Given the description of an element on the screen output the (x, y) to click on. 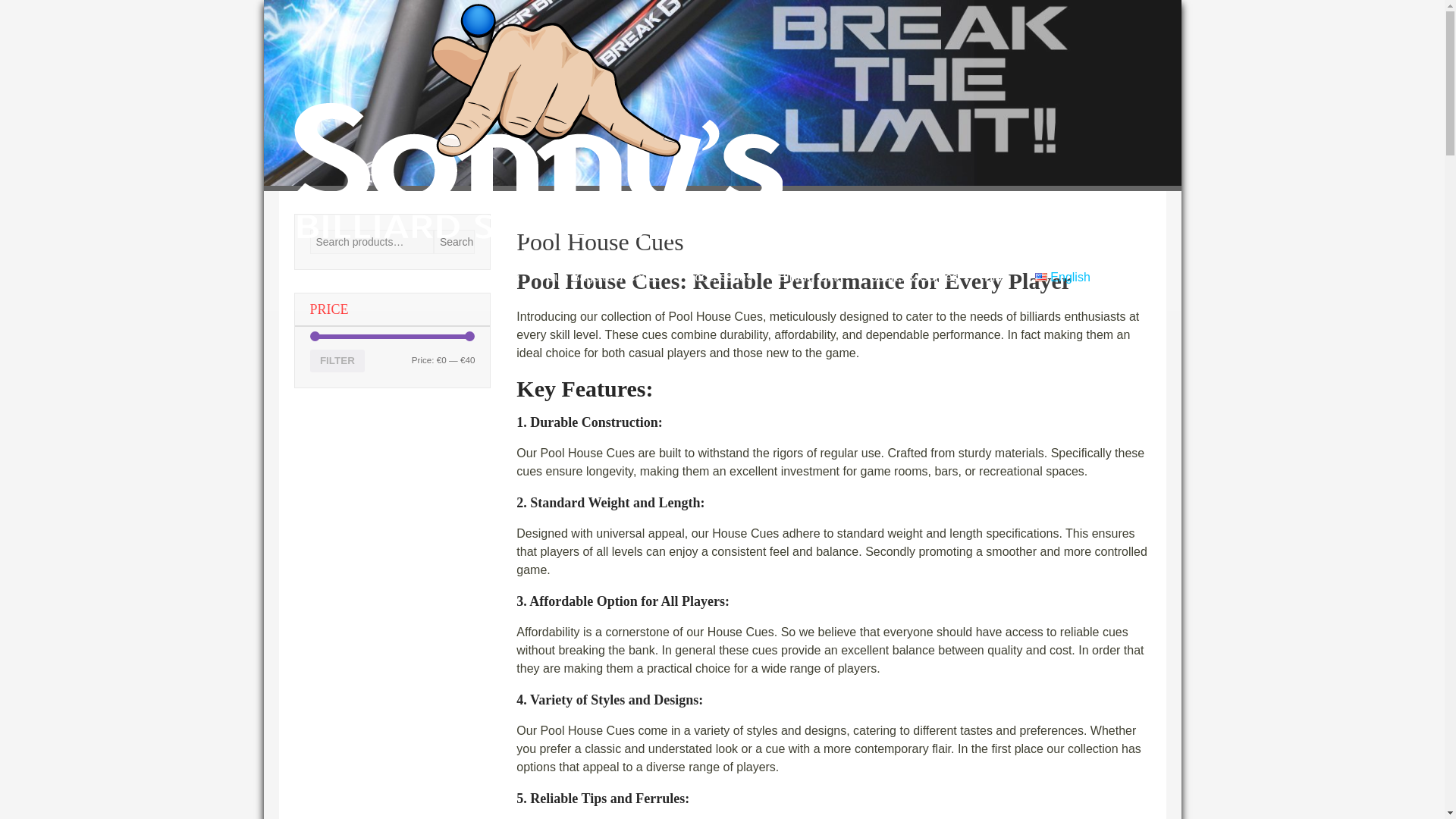
Accessories (718, 33)
Billiard Gifts (810, 33)
40 (414, 365)
Top of Page (1401, 786)
Cue Bags and Cases (602, 33)
0 (414, 343)
